Given the description of an element on the screen output the (x, y) to click on. 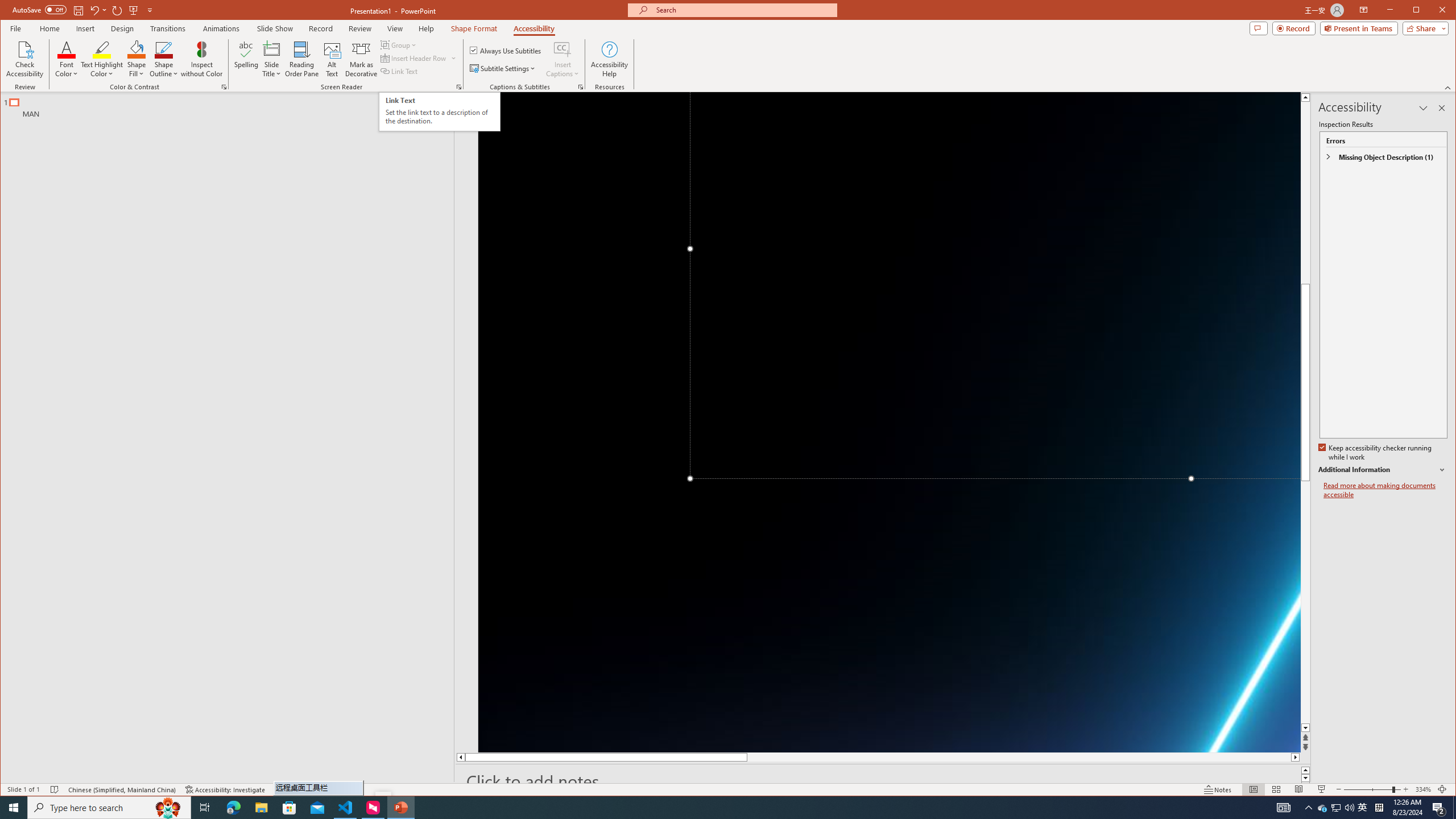
Subtitle TextBox (1322, 807)
